Given the description of an element on the screen output the (x, y) to click on. 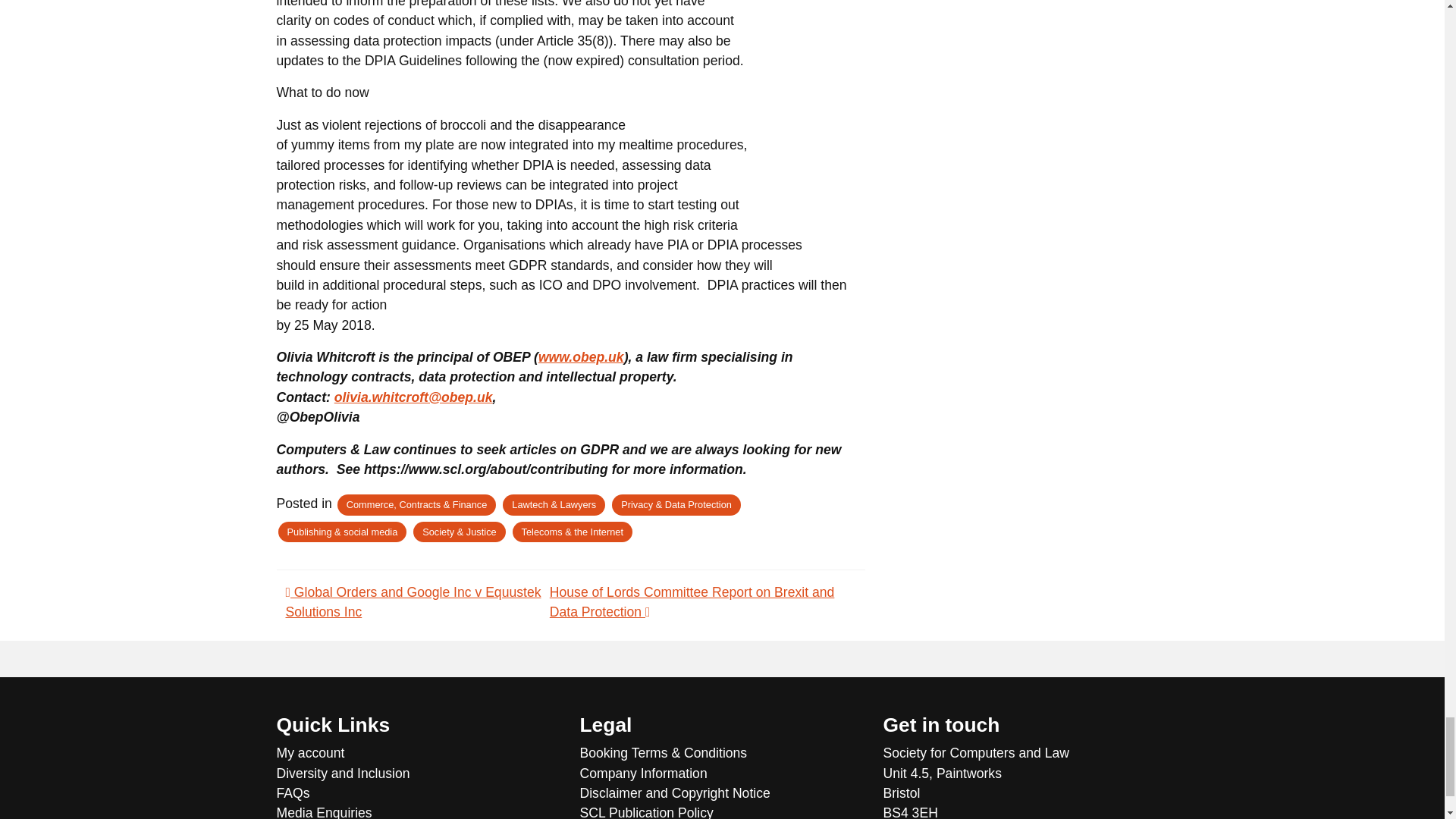
www.obep.uk (581, 356)
 Global Orders and Google Inc v Equustek Solutions Inc (412, 601)
Diversity and Inclusion (418, 772)
My account (418, 752)
Company Information (721, 772)
Media Enquiries (418, 811)
FAQs (418, 792)
